Given the description of an element on the screen output the (x, y) to click on. 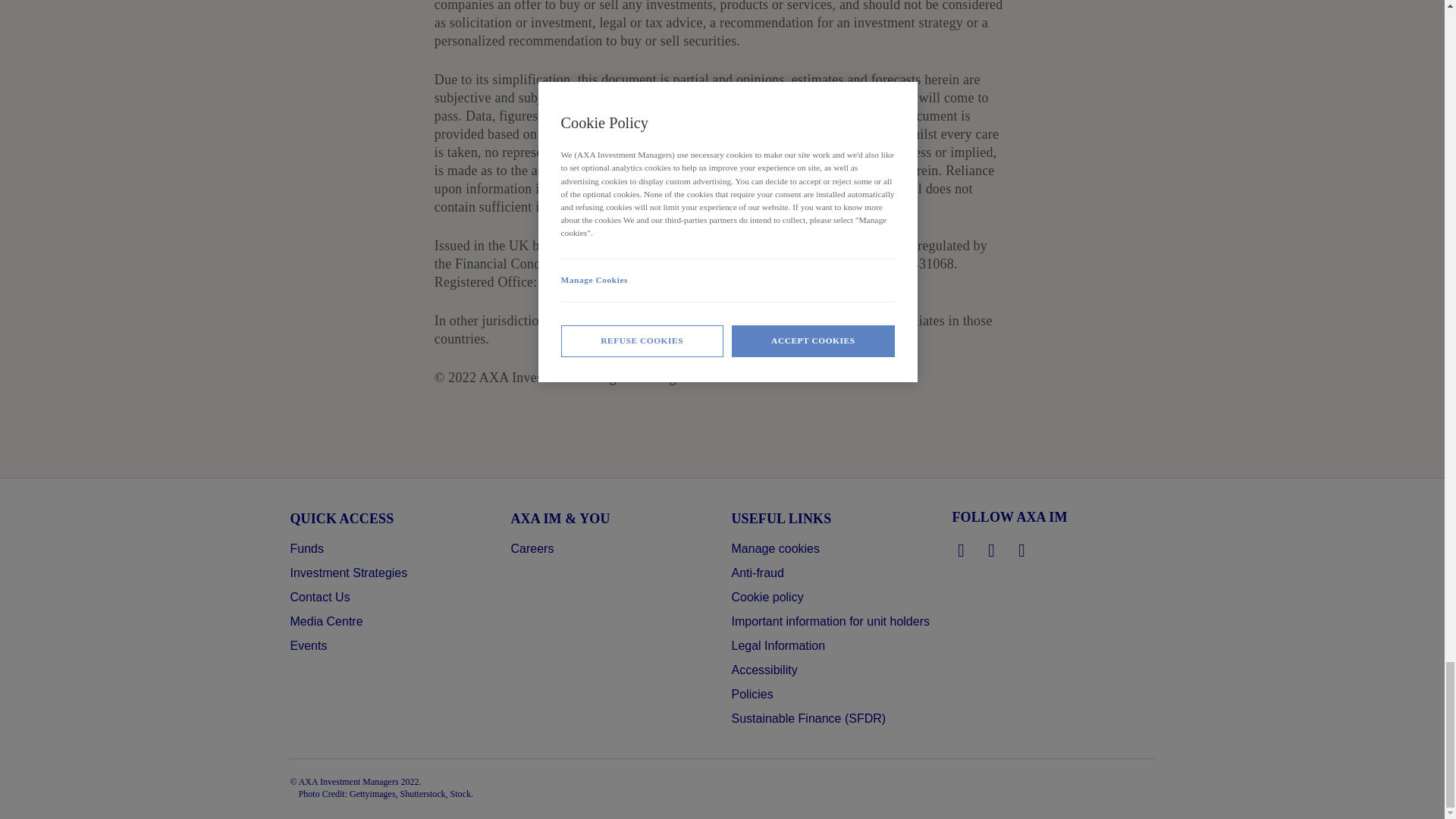
Follow us on Youtube (1021, 550)
Follow us on Twitter (991, 550)
Follow us on LinkedIn (961, 550)
